Given the description of an element on the screen output the (x, y) to click on. 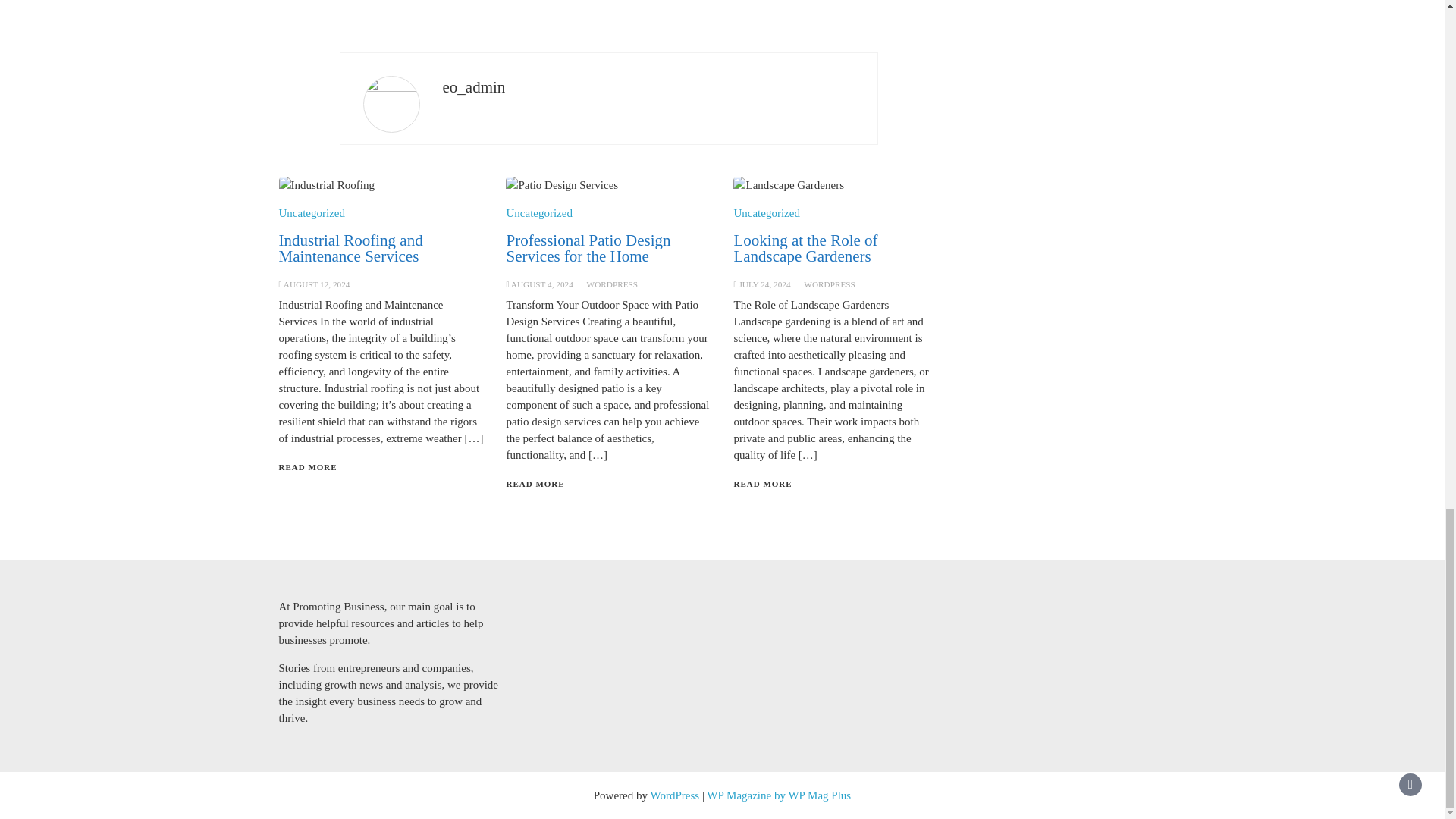
Looking at the Role of Landscape Gardeners (805, 247)
AUGUST 4, 2024 (542, 284)
Industrial Roofing and Maintenance Services (351, 247)
READ MORE (308, 466)
Professional Patio Design Services for the Home (587, 247)
WP Magazine by WP Mag Plus (778, 795)
READ MORE (534, 483)
AUGUST 12, 2024 (316, 284)
READ MORE (762, 483)
Uncategorized (766, 213)
